Given the description of an element on the screen output the (x, y) to click on. 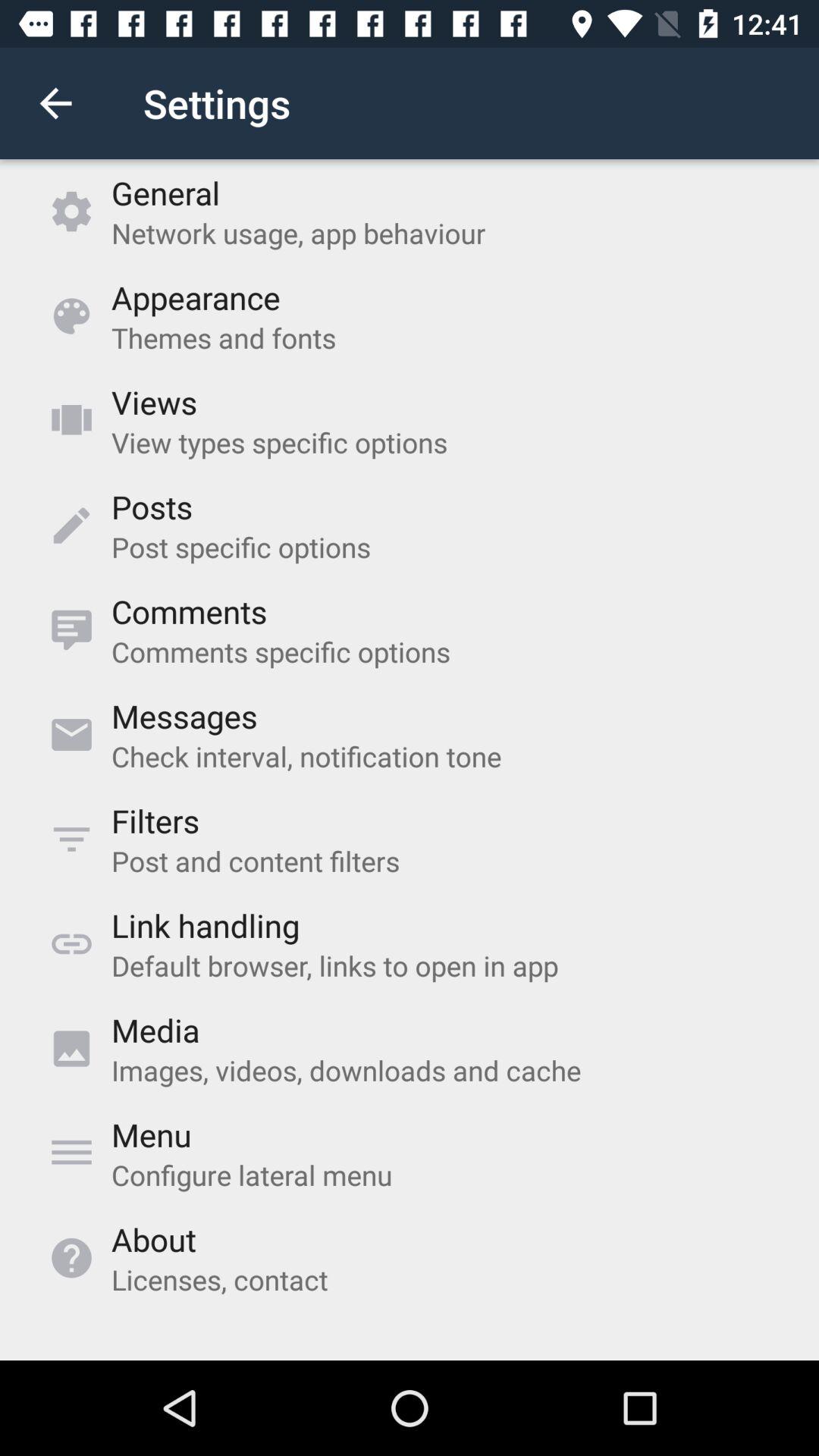
jump to views item (154, 401)
